Given the description of an element on the screen output the (x, y) to click on. 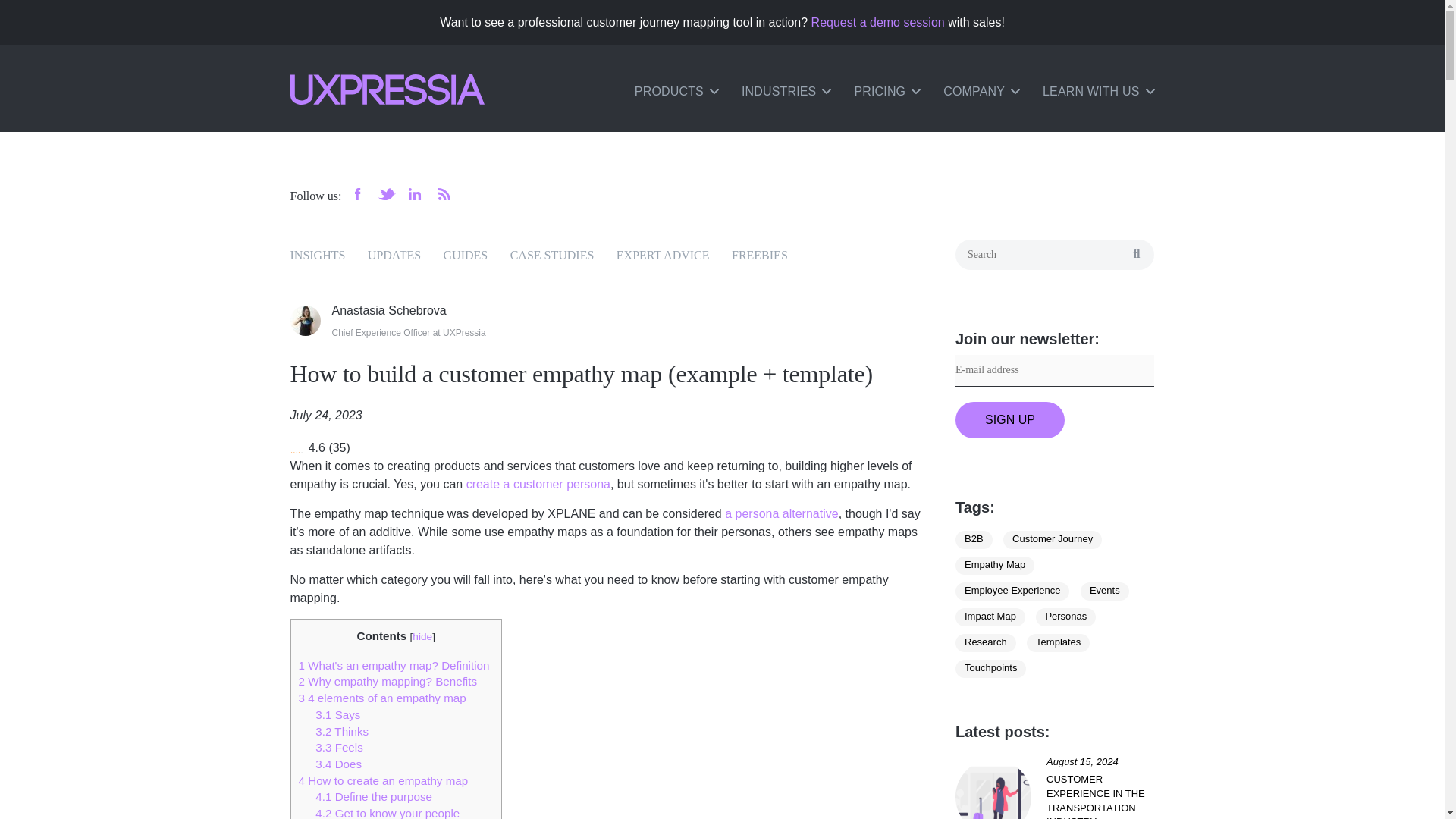
Request a demo session (877, 21)
FREEBIES (759, 255)
UPDATES (394, 255)
CASE STUDIES (552, 255)
RSS feed (443, 193)
a persona alternative (781, 513)
EXPERT ADVICE (662, 255)
INSIGHTS (317, 255)
GUIDES (465, 255)
LinkedIn (415, 193)
